Given the description of an element on the screen output the (x, y) to click on. 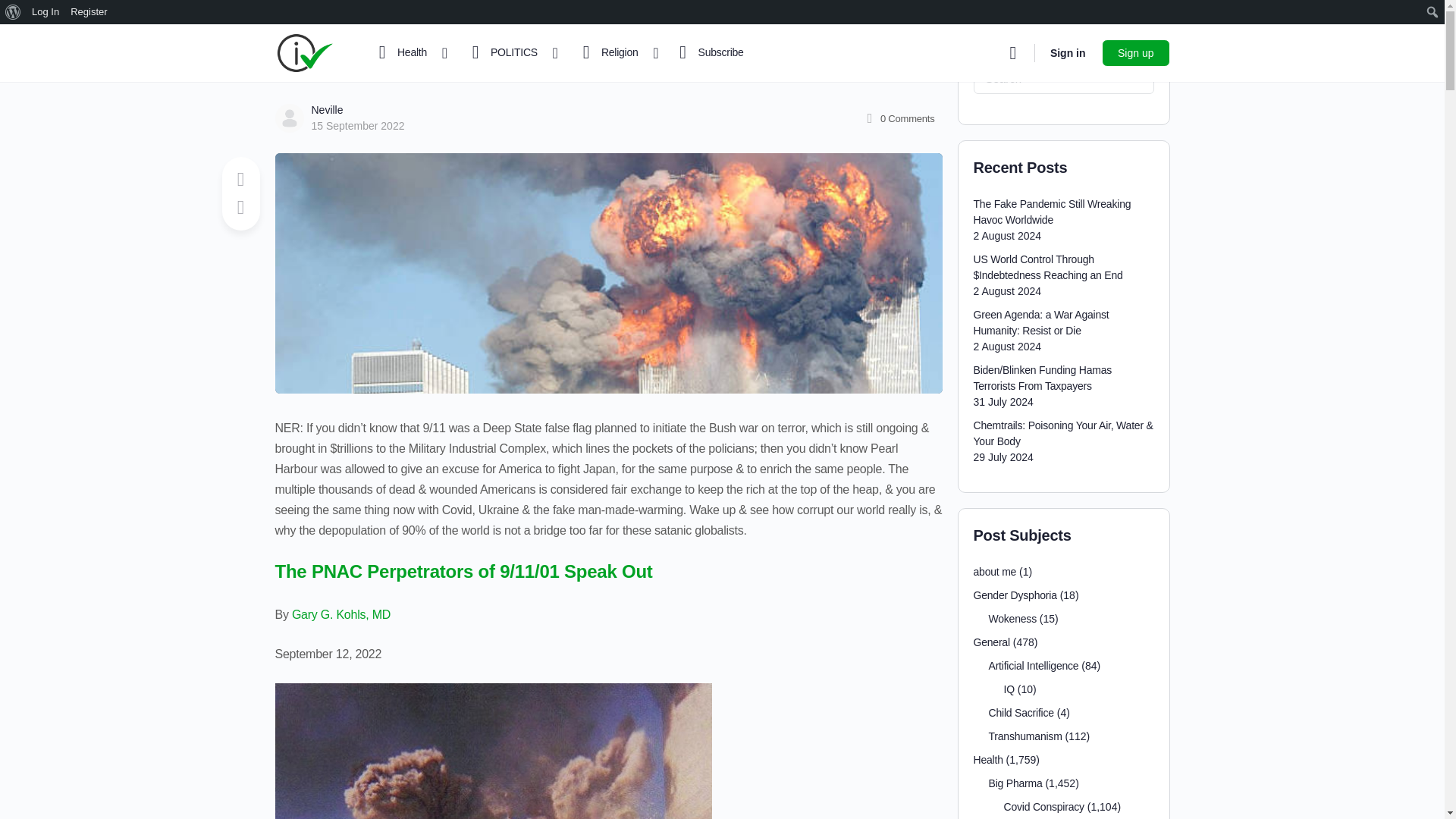
Register (89, 12)
Sign up (1135, 52)
Health (405, 52)
POLITICS (507, 52)
Posts by Gary G. Kohls, MD (341, 614)
Log In (45, 12)
Subscribe (708, 52)
Search (16, 12)
Religion (614, 52)
Sign in (1067, 53)
